Given the description of an element on the screen output the (x, y) to click on. 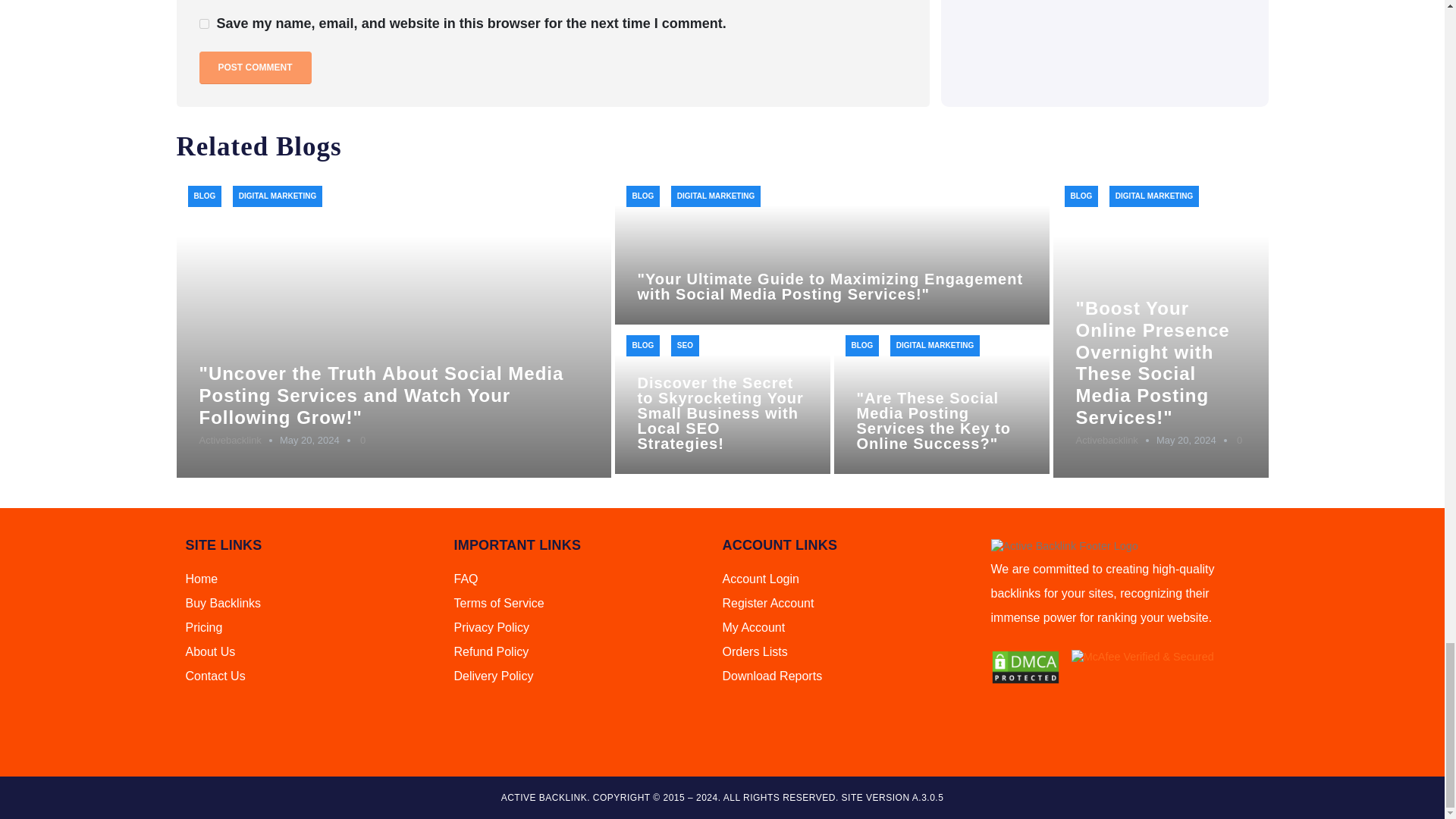
Post Comment (254, 67)
yes (203, 23)
